Given the description of an element on the screen output the (x, y) to click on. 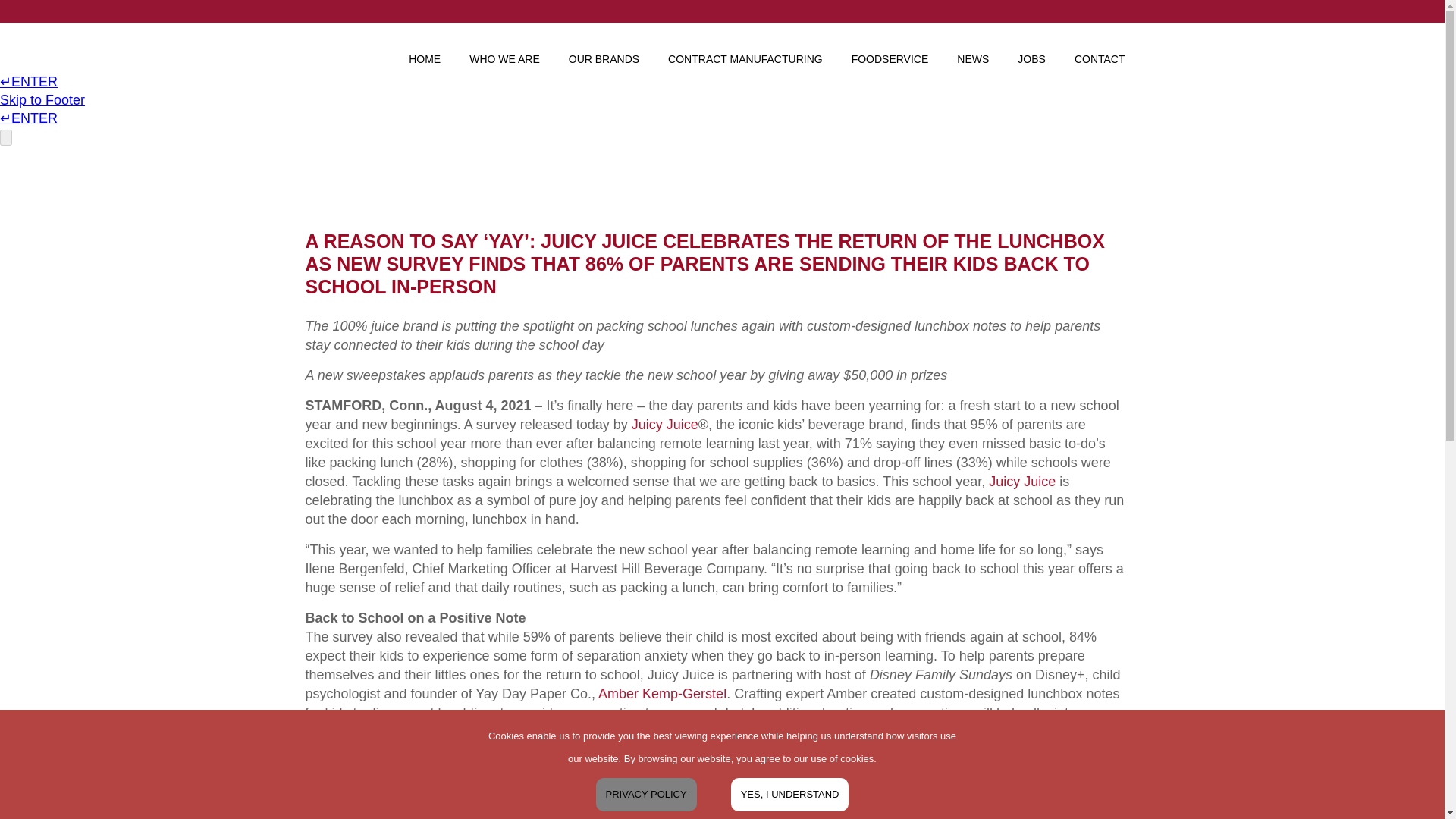
WHO WE ARE (504, 49)
CONTRACT MANUFACTURING (745, 49)
JOBS (1031, 49)
OUR BRANDS (603, 49)
CONTACT (1099, 49)
HOME (424, 49)
FOODSERVICE (890, 49)
NEWS (972, 49)
